Given the description of an element on the screen output the (x, y) to click on. 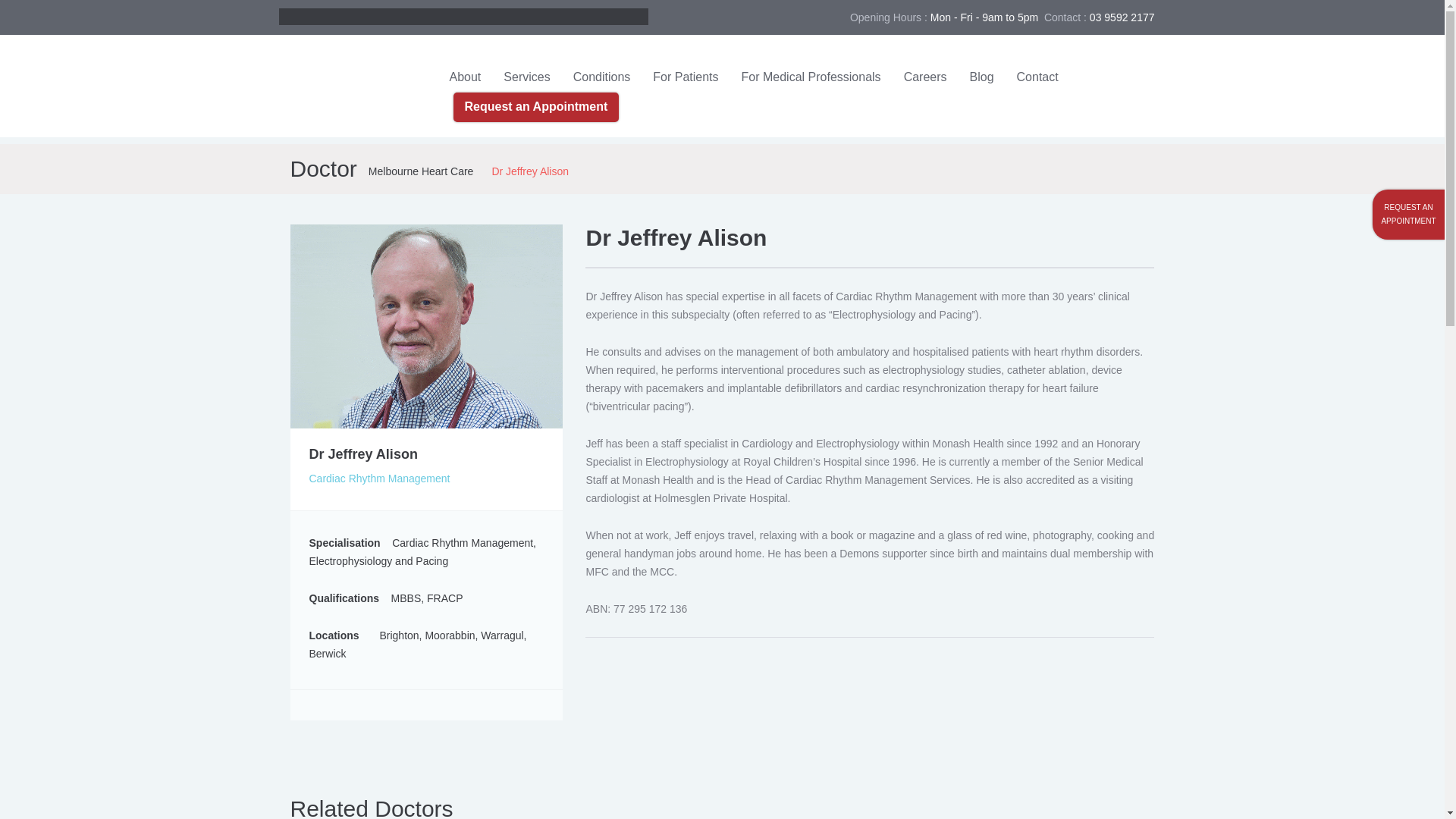
About (465, 77)
Dr Jeffrey Alison (425, 325)
Conditions (602, 77)
For Patients (685, 77)
Services (526, 77)
For Medical Professionals (811, 77)
03 9592 2177 (1121, 17)
